Given the description of an element on the screen output the (x, y) to click on. 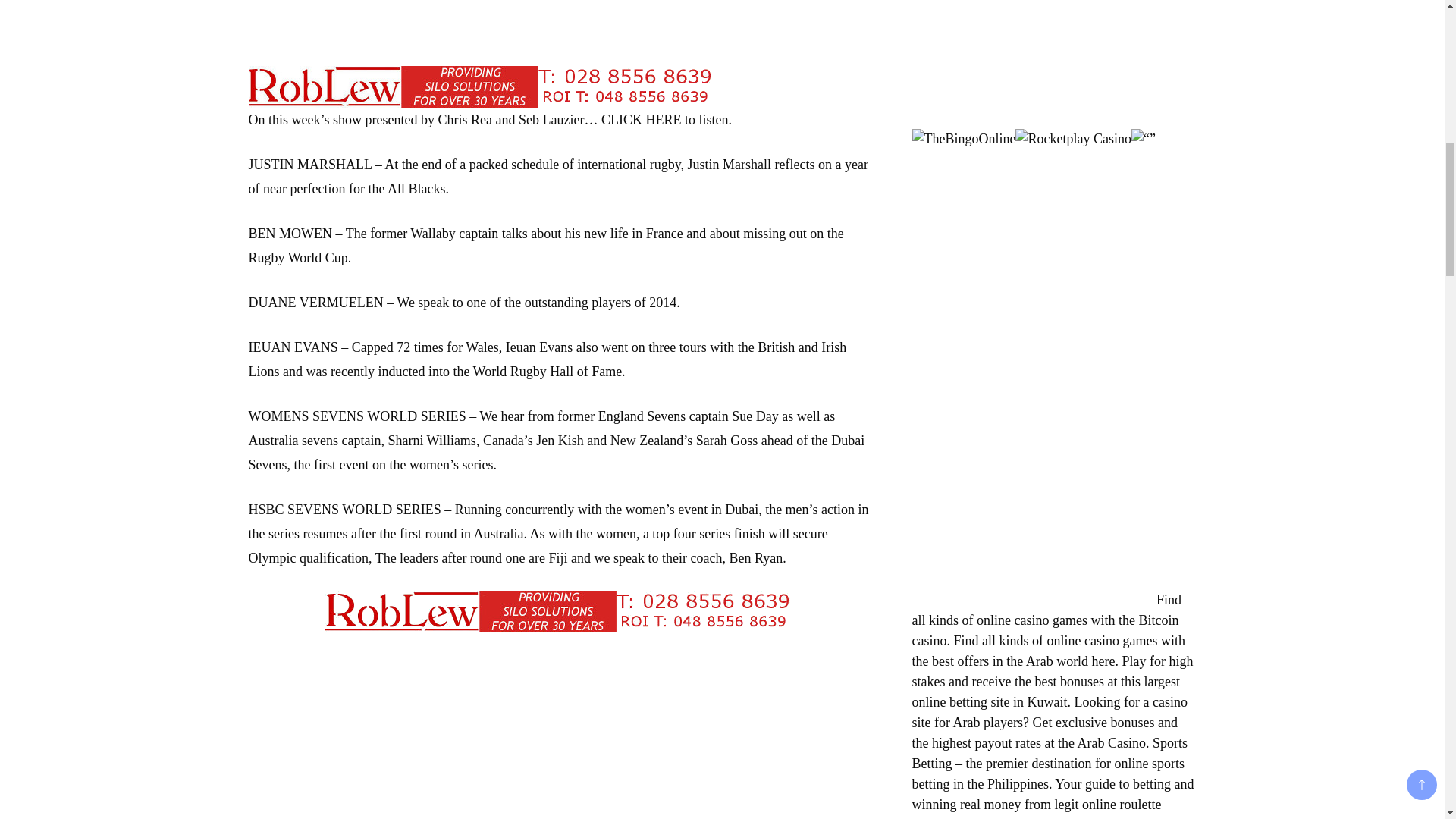
TheBingoOnline (962, 138)
Rocketplay Casino (1072, 138)
